Given the description of an element on the screen output the (x, y) to click on. 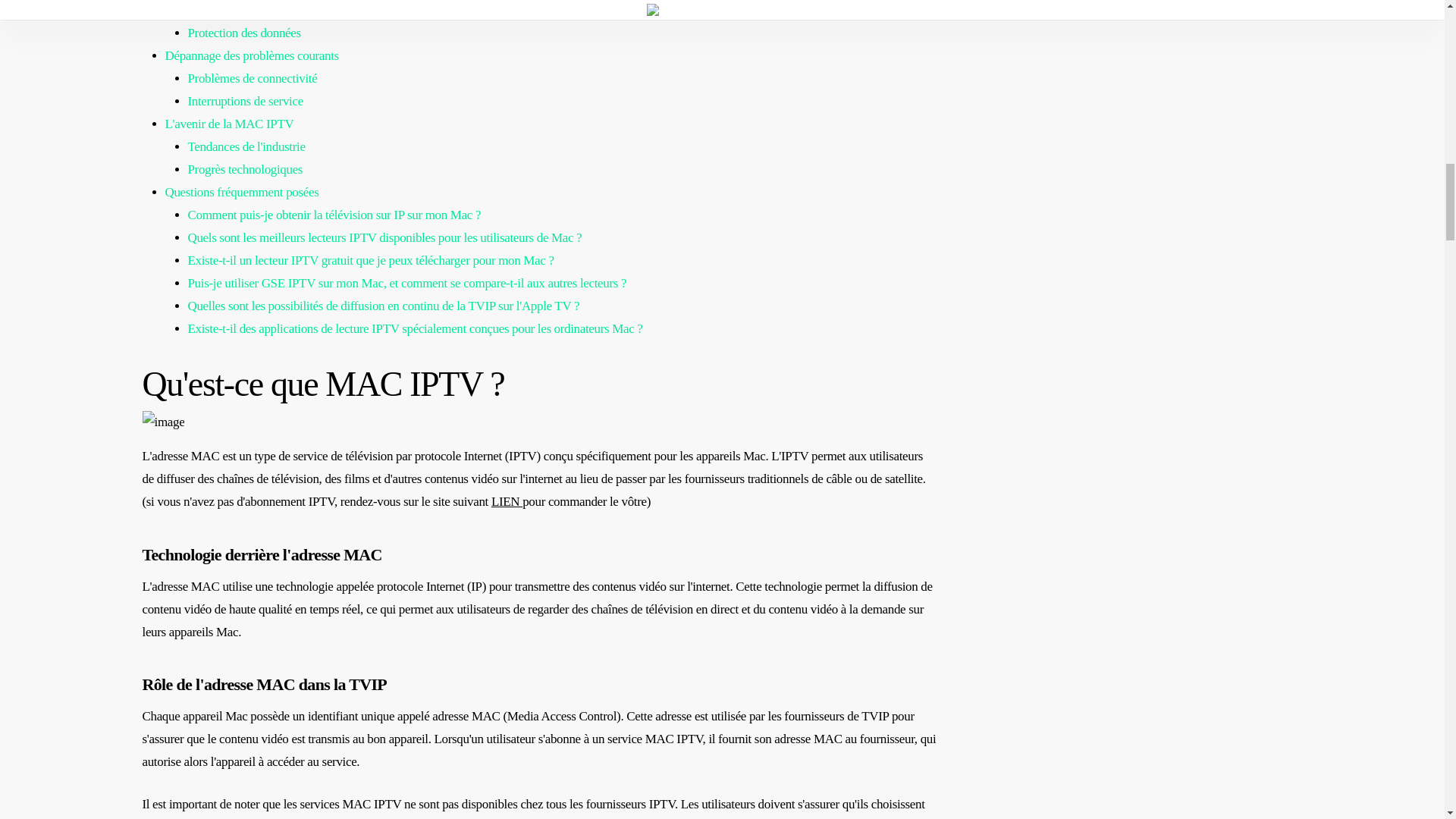
Interruptions de service (244, 101)
Tendances de l'industrie (246, 146)
L'avenir de la MAC IPTV (229, 124)
